Given the description of an element on the screen output the (x, y) to click on. 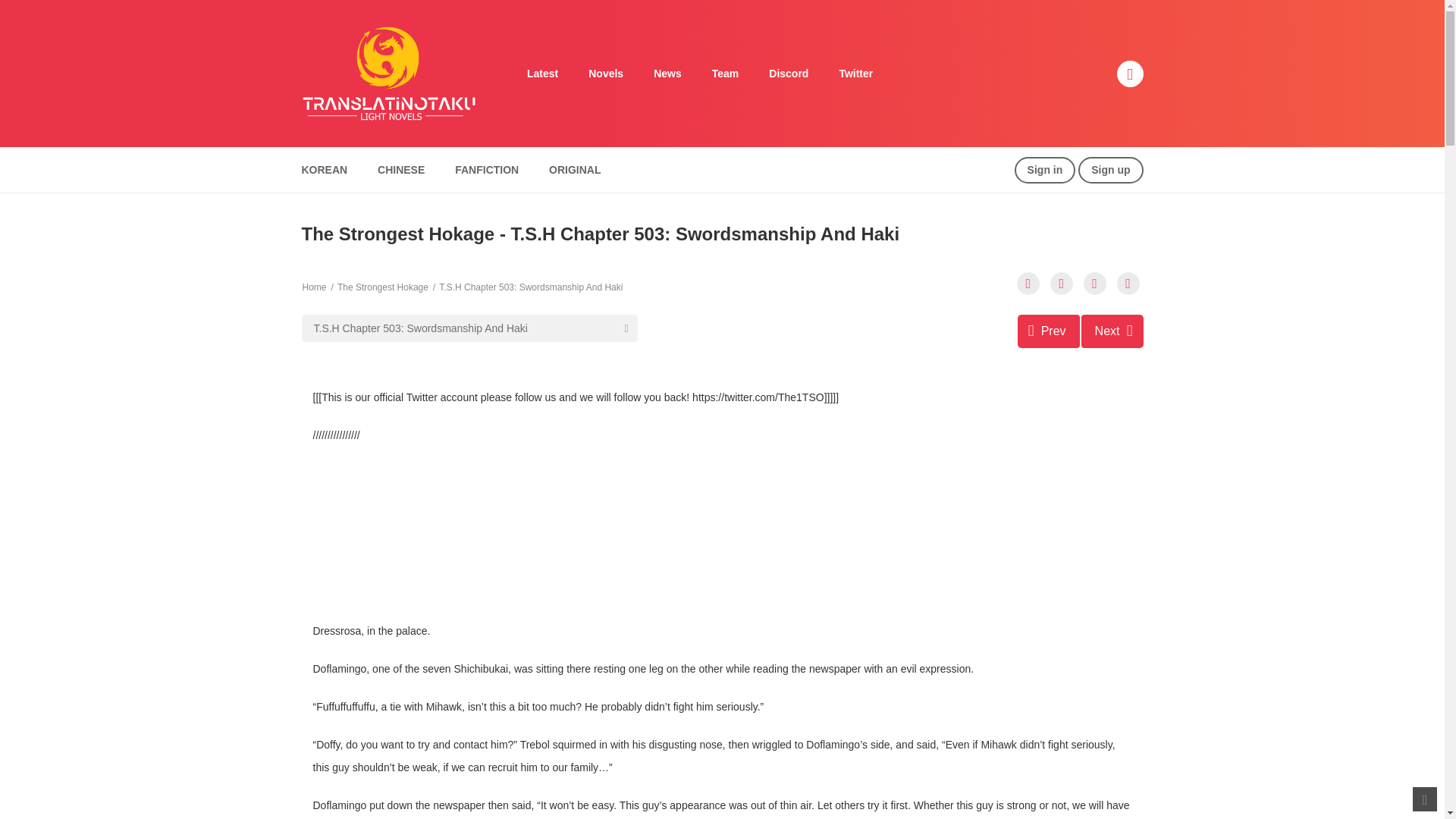
The Strongest Hokage (382, 286)
Discord (789, 73)
Sign in (1044, 170)
Team (725, 73)
Search (970, 9)
Sign up (1110, 170)
T.S.H Chapter 502: Shaking The World (1048, 331)
Novels (606, 73)
Bookmark (1094, 282)
News (668, 73)
